Given the description of an element on the screen output the (x, y) to click on. 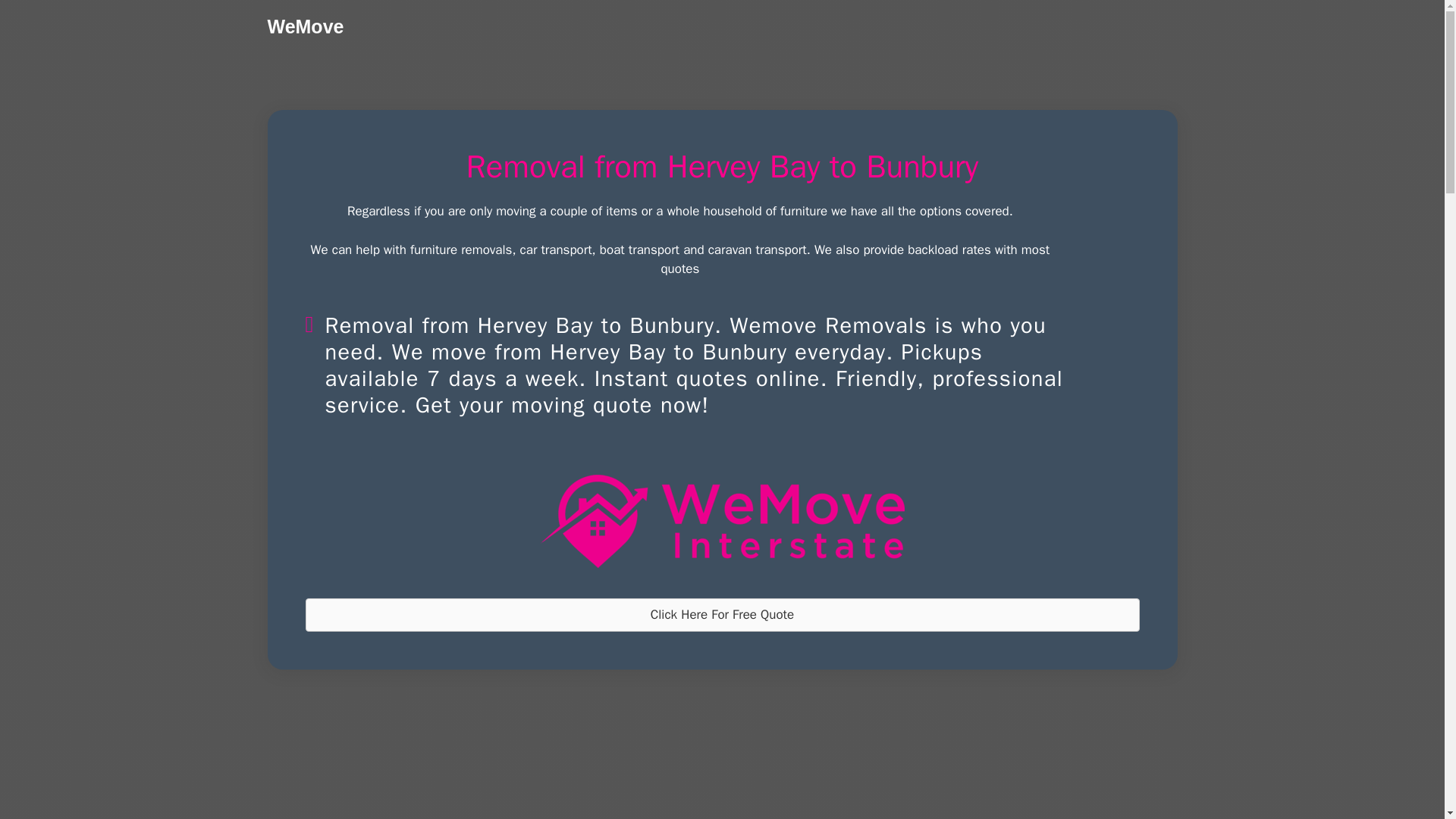
WeMove (304, 25)
Click Here For Free Quote (721, 614)
Wemove Removalists (722, 521)
